Given the description of an element on the screen output the (x, y) to click on. 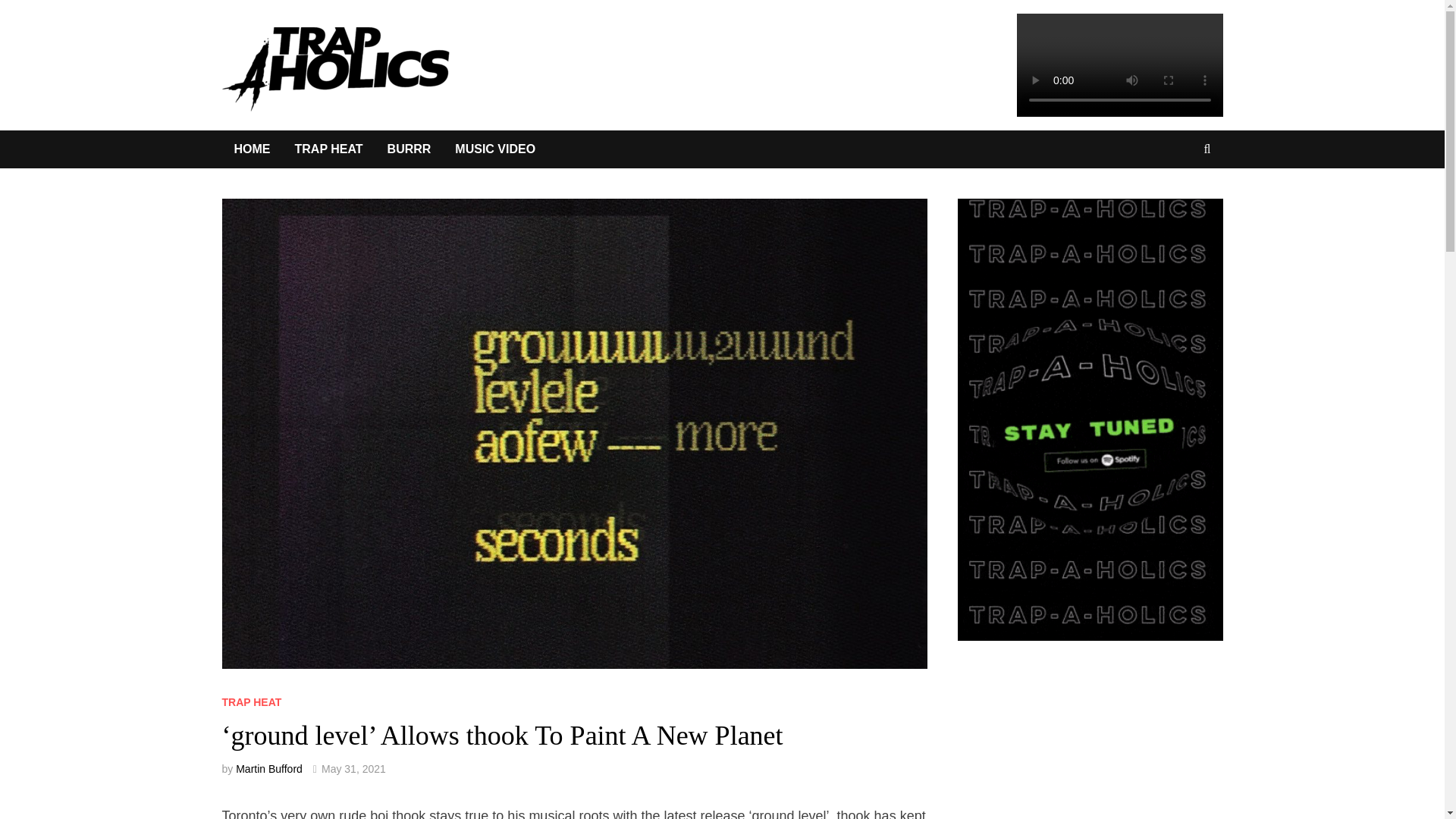
TRAP HEAT (328, 149)
MUSIC VIDEO (494, 149)
Advertisement (1105, 752)
HOME (251, 149)
TRAP HEAT (251, 702)
May 31, 2021 (353, 768)
BURRR (409, 149)
Martin Bufford (268, 768)
